Given the description of an element on the screen output the (x, y) to click on. 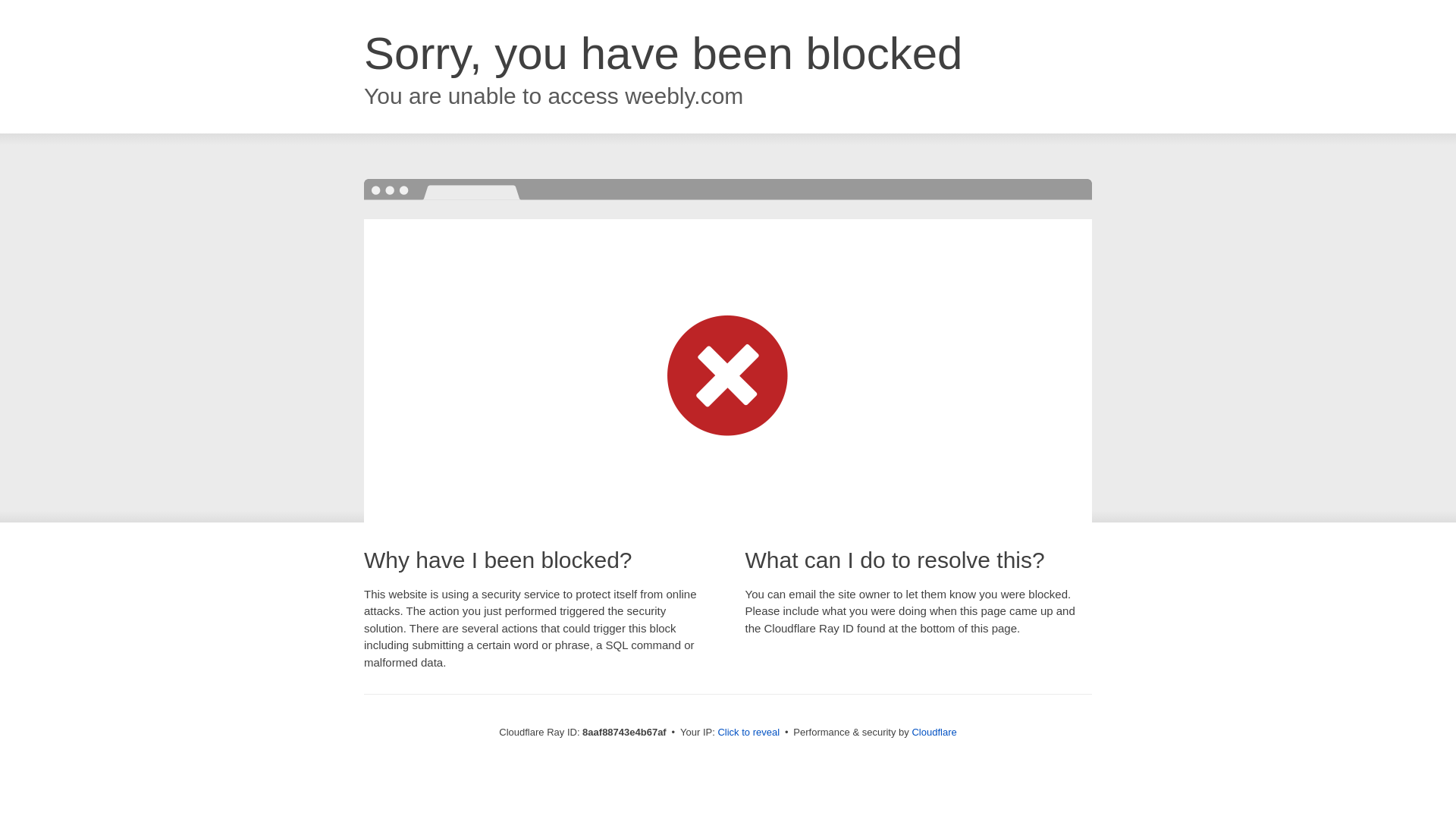
Click to reveal (747, 732)
Cloudflare (933, 731)
